Given the description of an element on the screen output the (x, y) to click on. 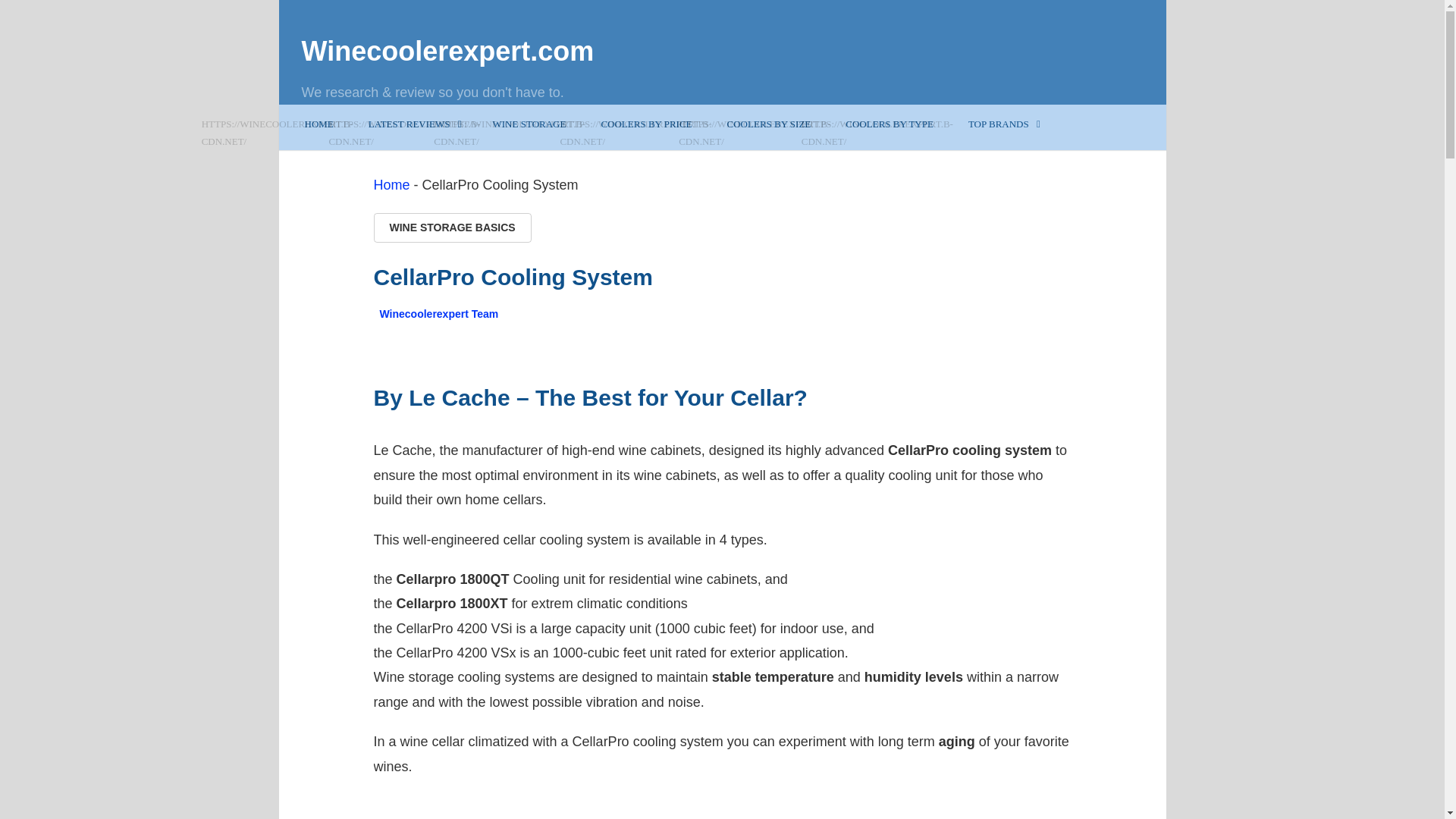
Posts by Winecoolerexpert Team (437, 313)
WINE STORAGE (529, 123)
Winecoolerexpert.com (447, 51)
COOLERS BY SIZE (767, 123)
WINE STORAGE BASICS (451, 227)
Winecoolerexpert Team (437, 313)
View all posts in Wine Storage Basics (451, 227)
COOLERS BY PRICE (643, 123)
HOME (325, 123)
COOLERS BY TYPE (888, 123)
